Given the description of an element on the screen output the (x, y) to click on. 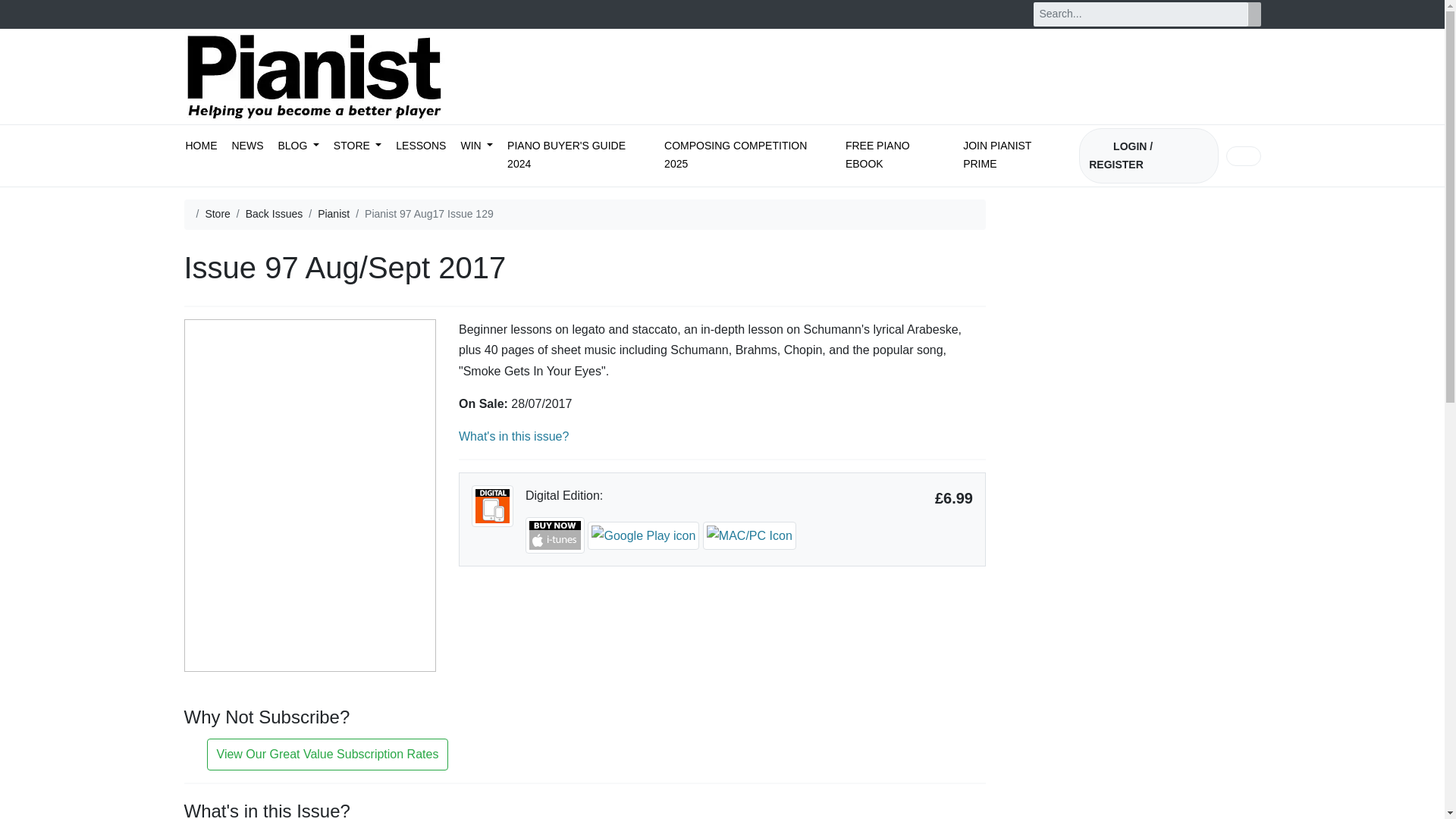
ITunes digital magazine link (556, 533)
STORE (356, 146)
Google play digital magazine link (644, 533)
FREE PIANO EBOOK (897, 156)
LESSONS (420, 146)
BLOG (298, 146)
JOIN PIANIST PRIME (1013, 156)
What's in this issue? (513, 436)
PIANO BUYER'S GUIDE 2024 (577, 156)
Pocket mags digital magazine link (749, 533)
